Given the description of an element on the screen output the (x, y) to click on. 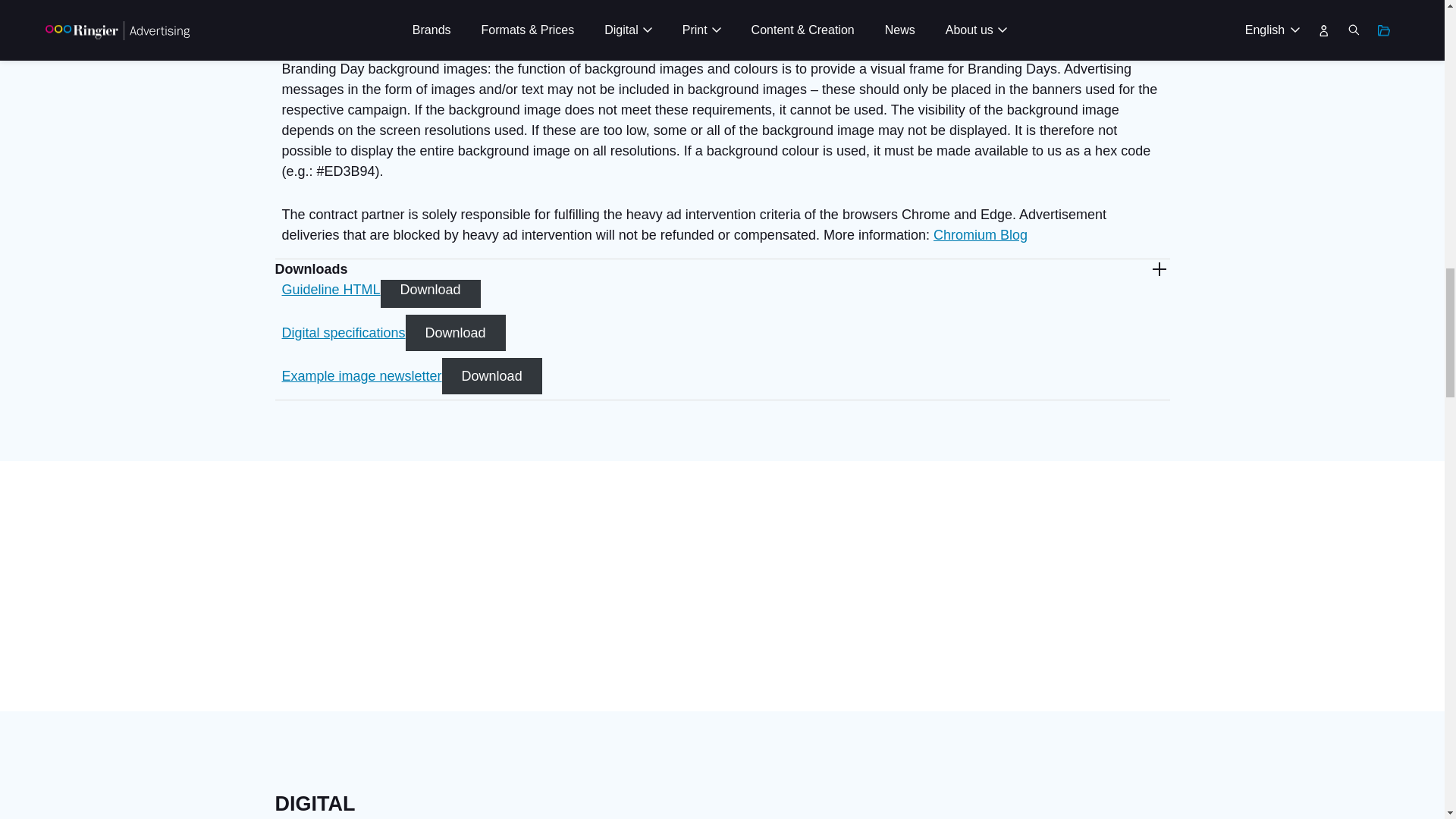
Chromium Blog (980, 234)
Download (430, 289)
Guideline HTML (331, 289)
